Given the description of an element on the screen output the (x, y) to click on. 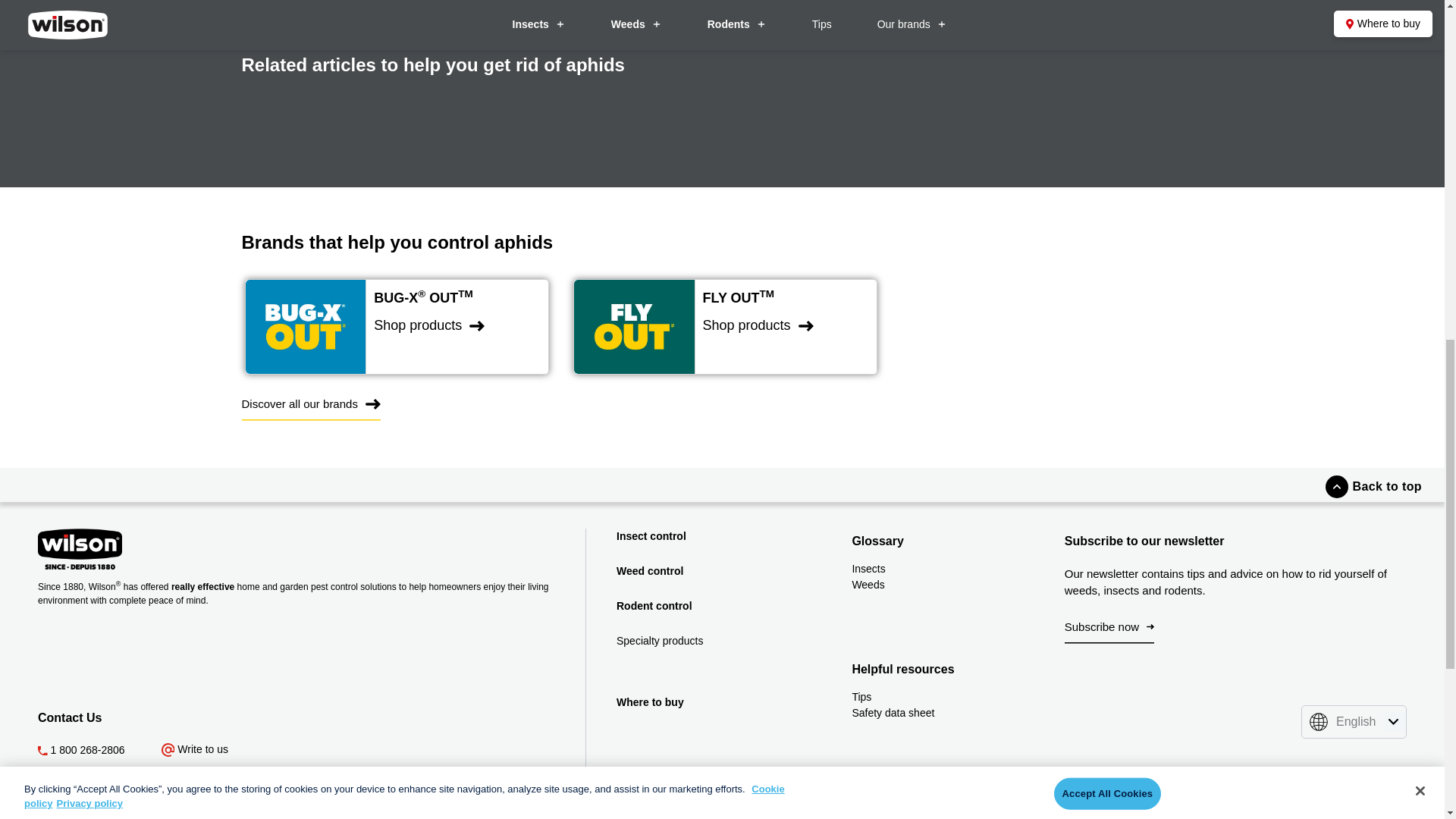
Wilson black logo  (79, 548)
Wilson black logo  (164, 548)
